Given the description of an element on the screen output the (x, y) to click on. 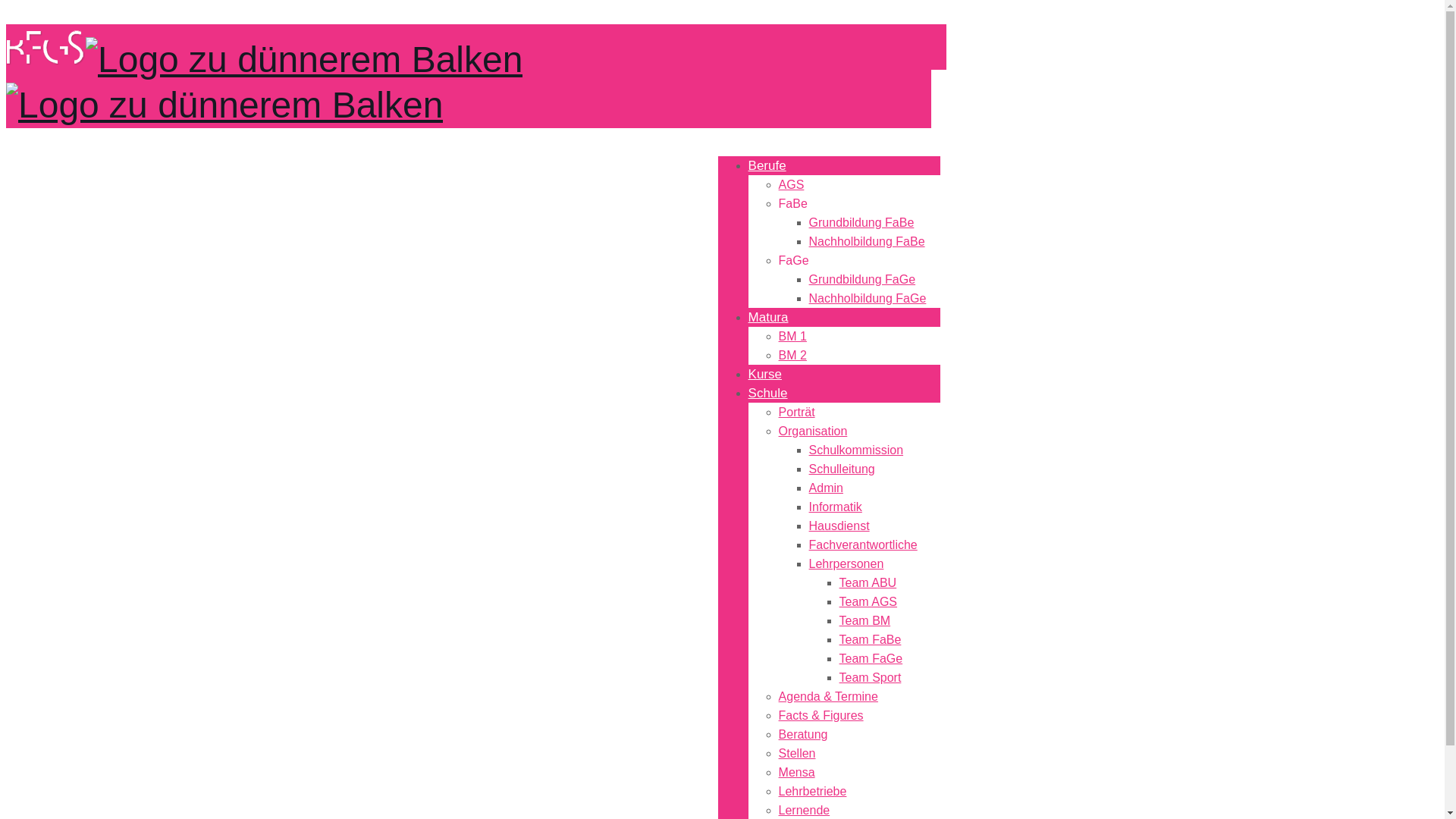
Kurse Element type: text (764, 373)
BM 1 Element type: text (792, 335)
Grundbildung FaBe Element type: text (861, 222)
Berufe Element type: text (767, 165)
Team BM Element type: text (865, 620)
Team ABU Element type: text (868, 582)
Team AGS Element type: text (868, 601)
Team Sport Element type: text (870, 677)
Nachholbildung FaGe Element type: text (867, 297)
BFGS Element type: hover (264, 81)
Matura Element type: text (768, 316)
Stellen Element type: text (796, 752)
Schulkommission Element type: text (856, 449)
Grundbildung FaGe Element type: text (862, 279)
FaGe Element type: text (793, 260)
Schule Element type: text (767, 392)
Nachholbildung FaBe Element type: text (867, 241)
Mensa Element type: text (796, 771)
Team FaGe Element type: text (871, 658)
AGS Element type: text (791, 184)
Lehrbetriebe Element type: text (812, 790)
Organisation Element type: text (812, 430)
FaBe Element type: text (792, 203)
Team FaBe Element type: text (870, 639)
Facts & Figures Element type: text (820, 715)
Informatik Element type: text (835, 506)
Hausdienst Element type: text (839, 525)
Agenda & Termine Element type: text (828, 696)
Fachverantwortliche Element type: text (863, 544)
Schulleitung Element type: text (842, 468)
Admin Element type: text (826, 487)
Beratung Element type: text (803, 734)
Lehrpersonen Element type: text (846, 563)
BM 2 Element type: text (792, 354)
Lernende Element type: text (804, 809)
